Given the description of an element on the screen output the (x, y) to click on. 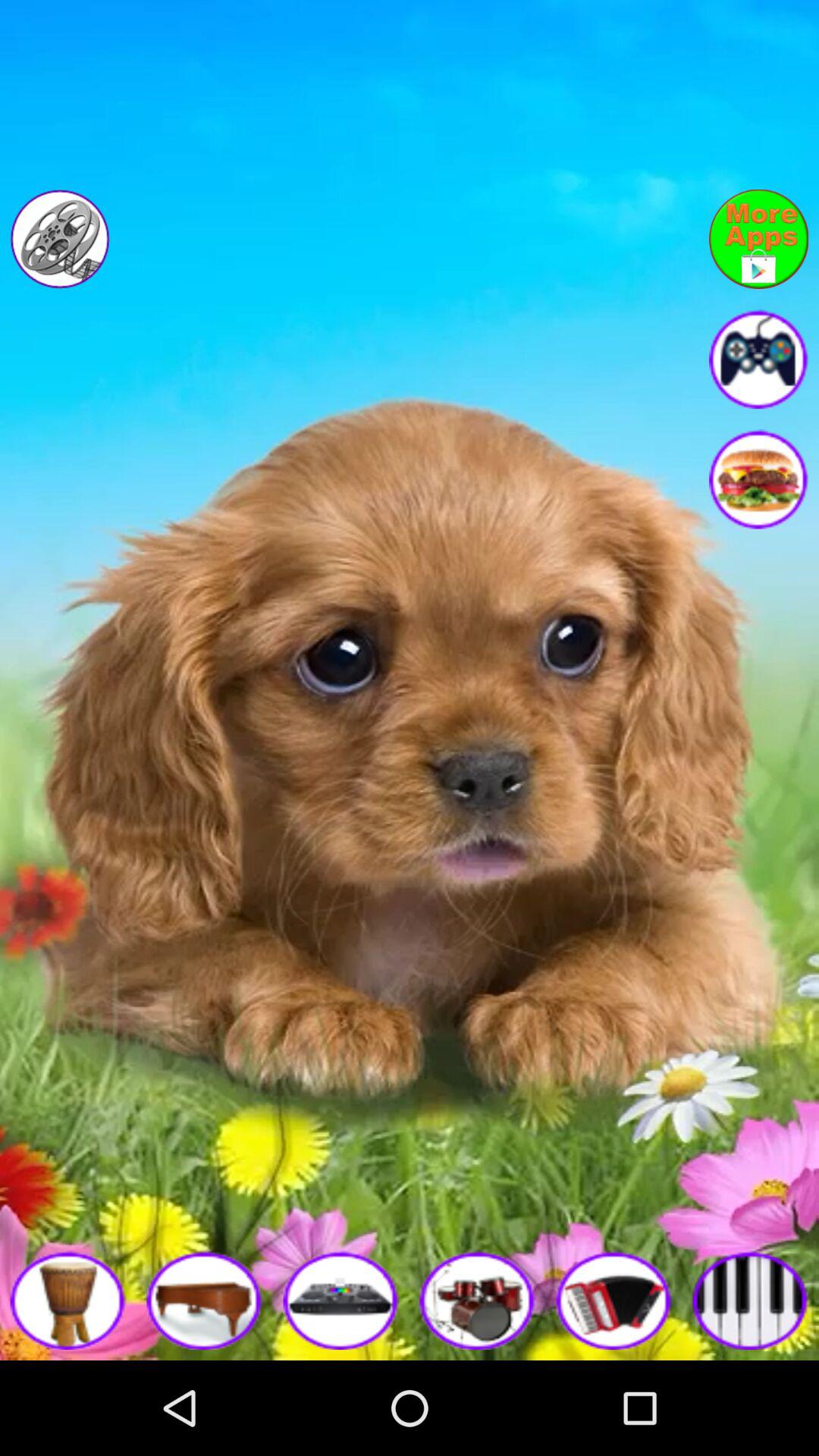
play the accordion music instrument (614, 1300)
